Given the description of an element on the screen output the (x, y) to click on. 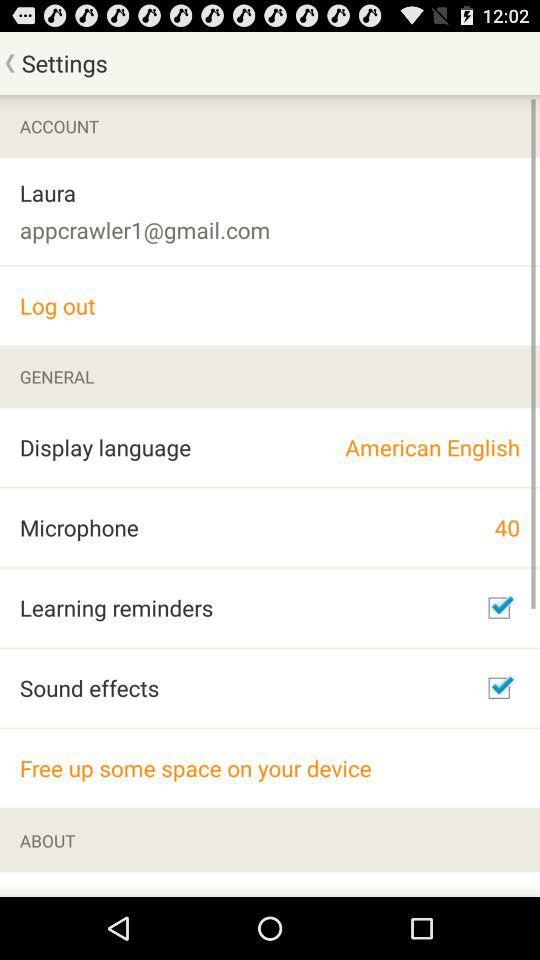
turn off the icon above the general icon (270, 305)
